Given the description of an element on the screen output the (x, y) to click on. 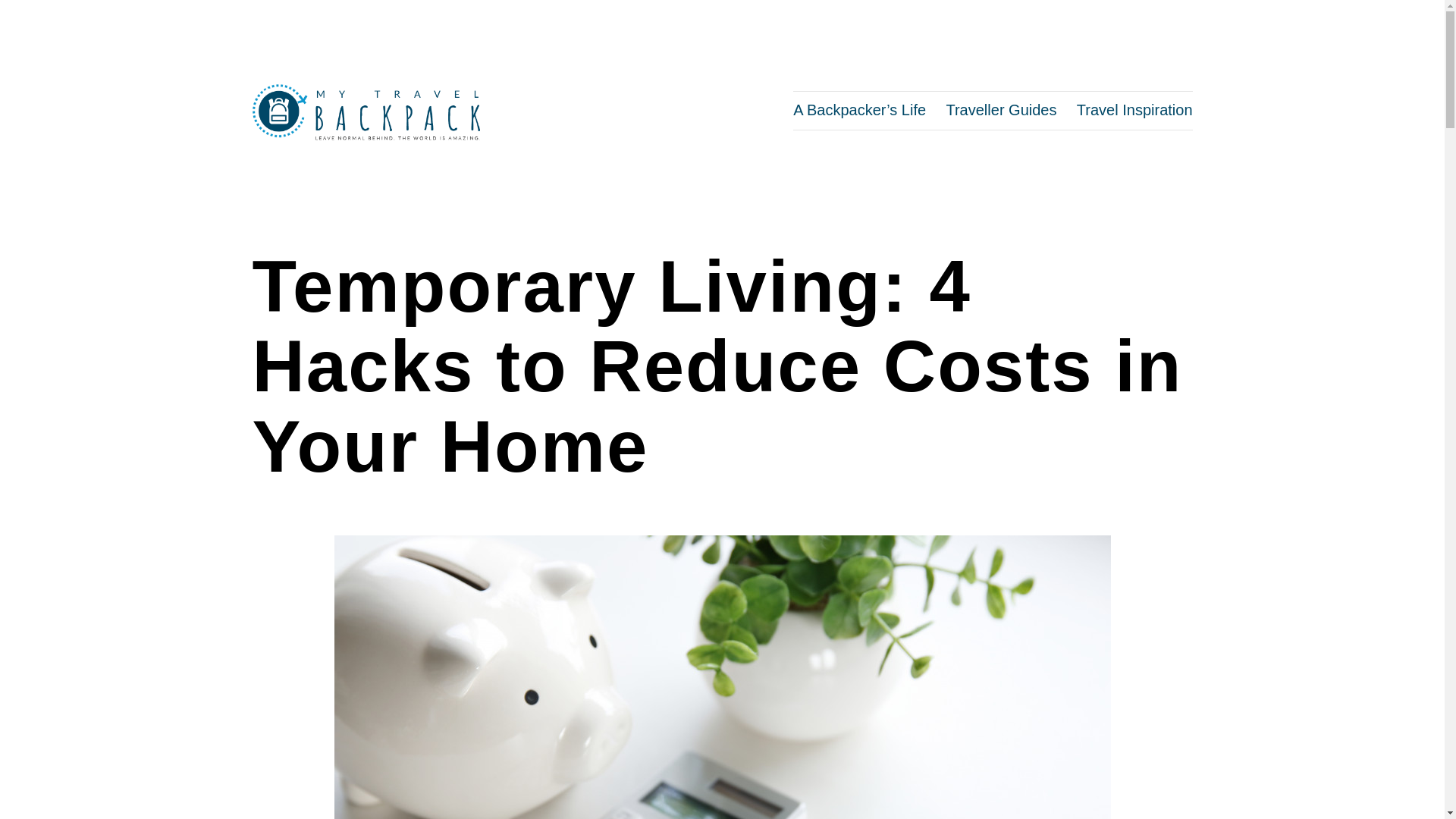
Traveller Guides (1000, 109)
Travel Inspiration (1134, 109)
